Given the description of an element on the screen output the (x, y) to click on. 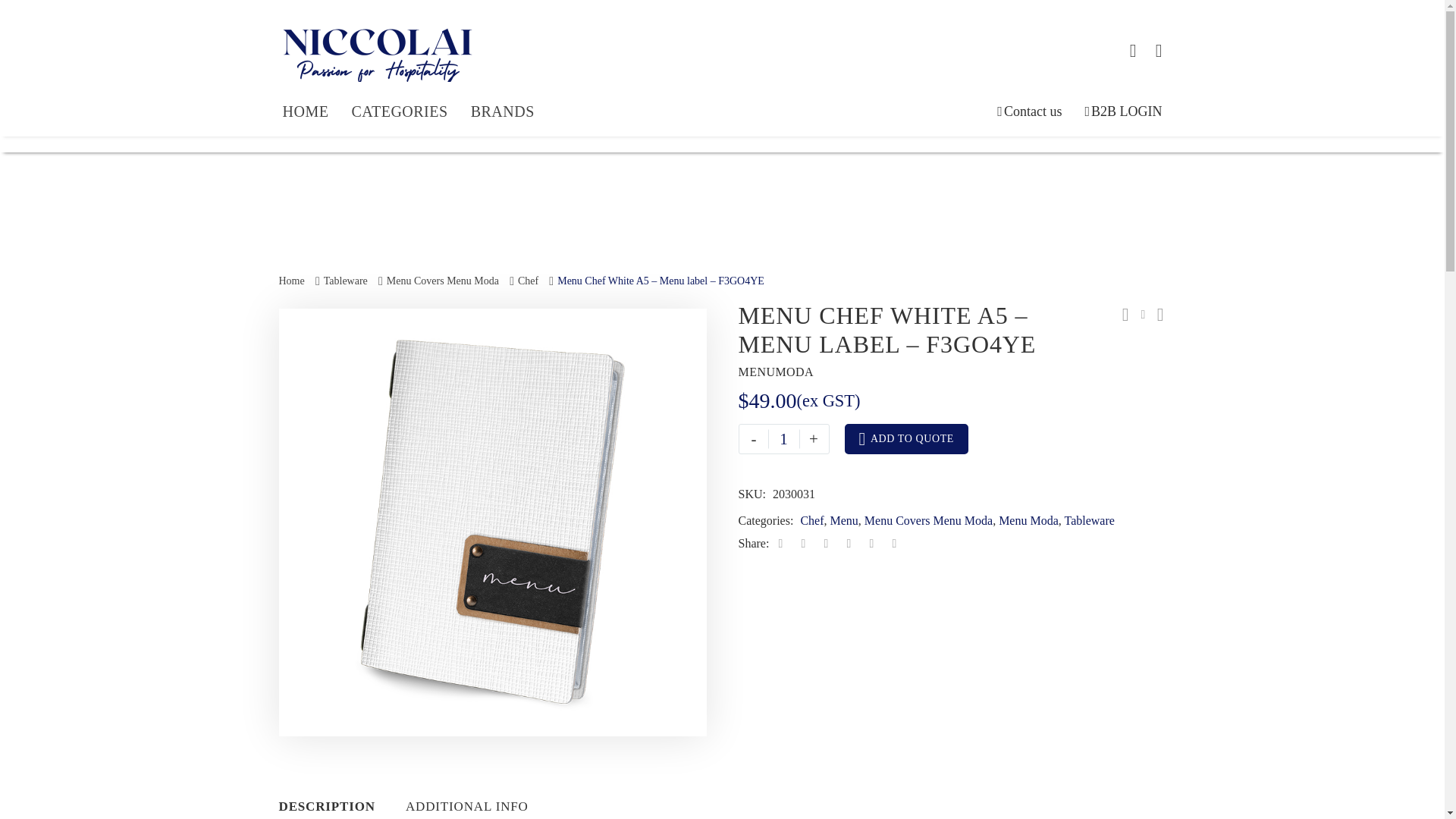
Tumblr (848, 542)
BRANDS (502, 111)
HOME (305, 111)
LinkedIn (871, 542)
Contact us (1029, 112)
Twitter (802, 542)
1 (783, 439)
B2B LOGIN (1122, 112)
Pinterest (825, 542)
CATEGORIES (398, 111)
